Given the description of an element on the screen output the (x, y) to click on. 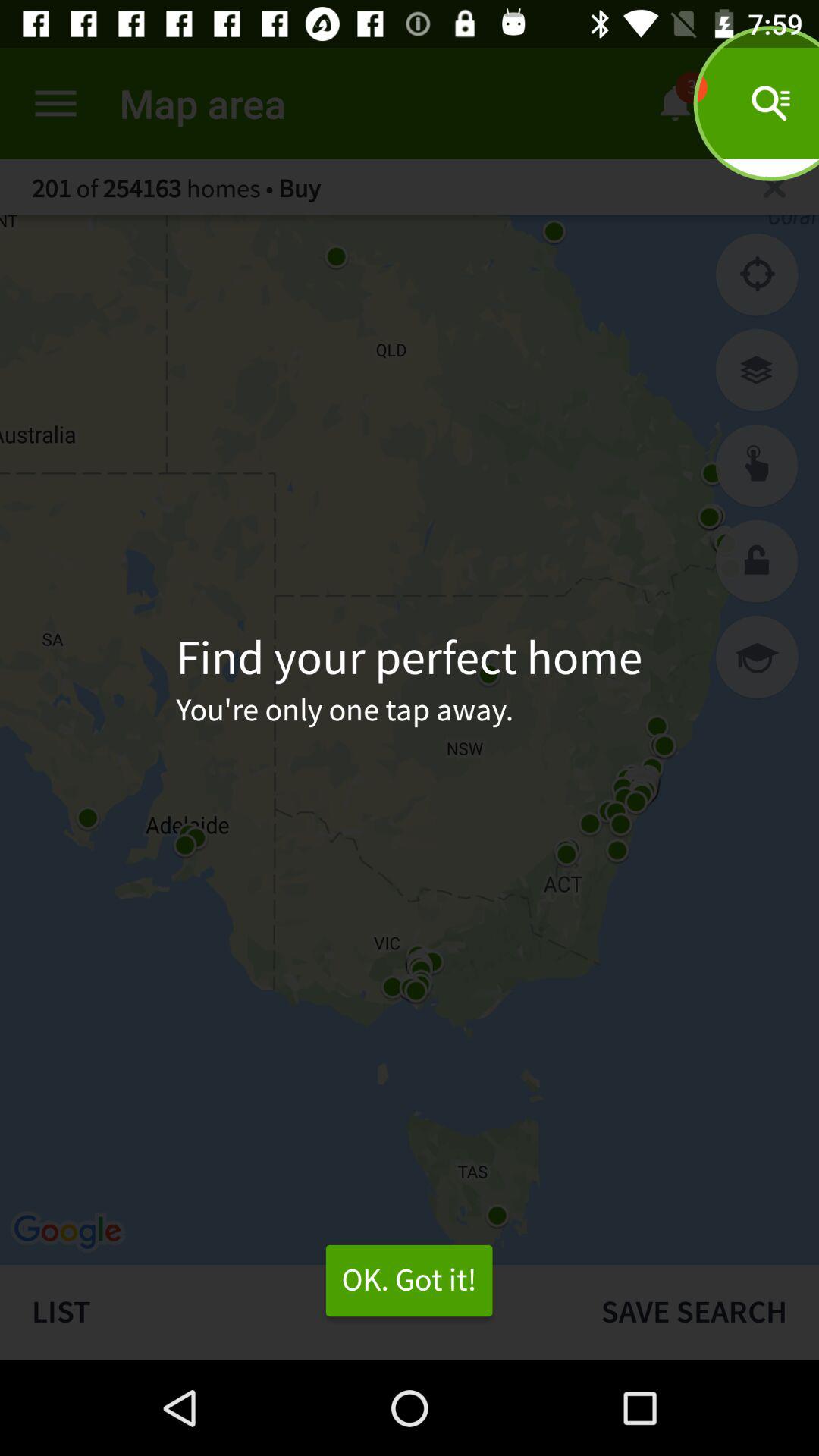
open the menu (55, 103)
